Given the description of an element on the screen output the (x, y) to click on. 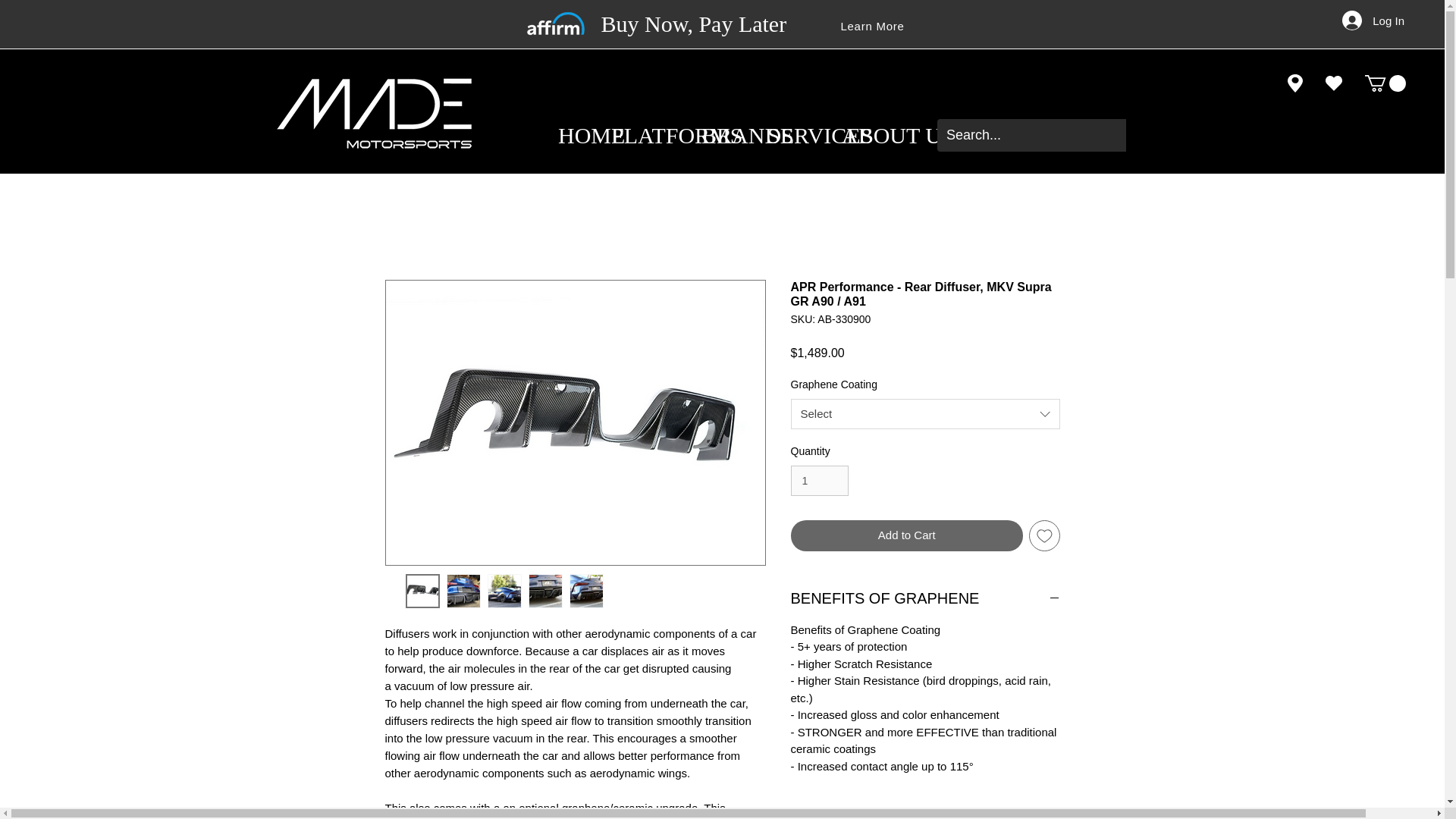
Select (924, 413)
1 (818, 481)
Add to Cart (906, 535)
Log In (1373, 20)
SERVICES (792, 135)
ABOUT US (867, 135)
BENEFITS OF GRAPHENE (924, 598)
Learn More (872, 25)
HOME (573, 135)
